Given the description of an element on the screen output the (x, y) to click on. 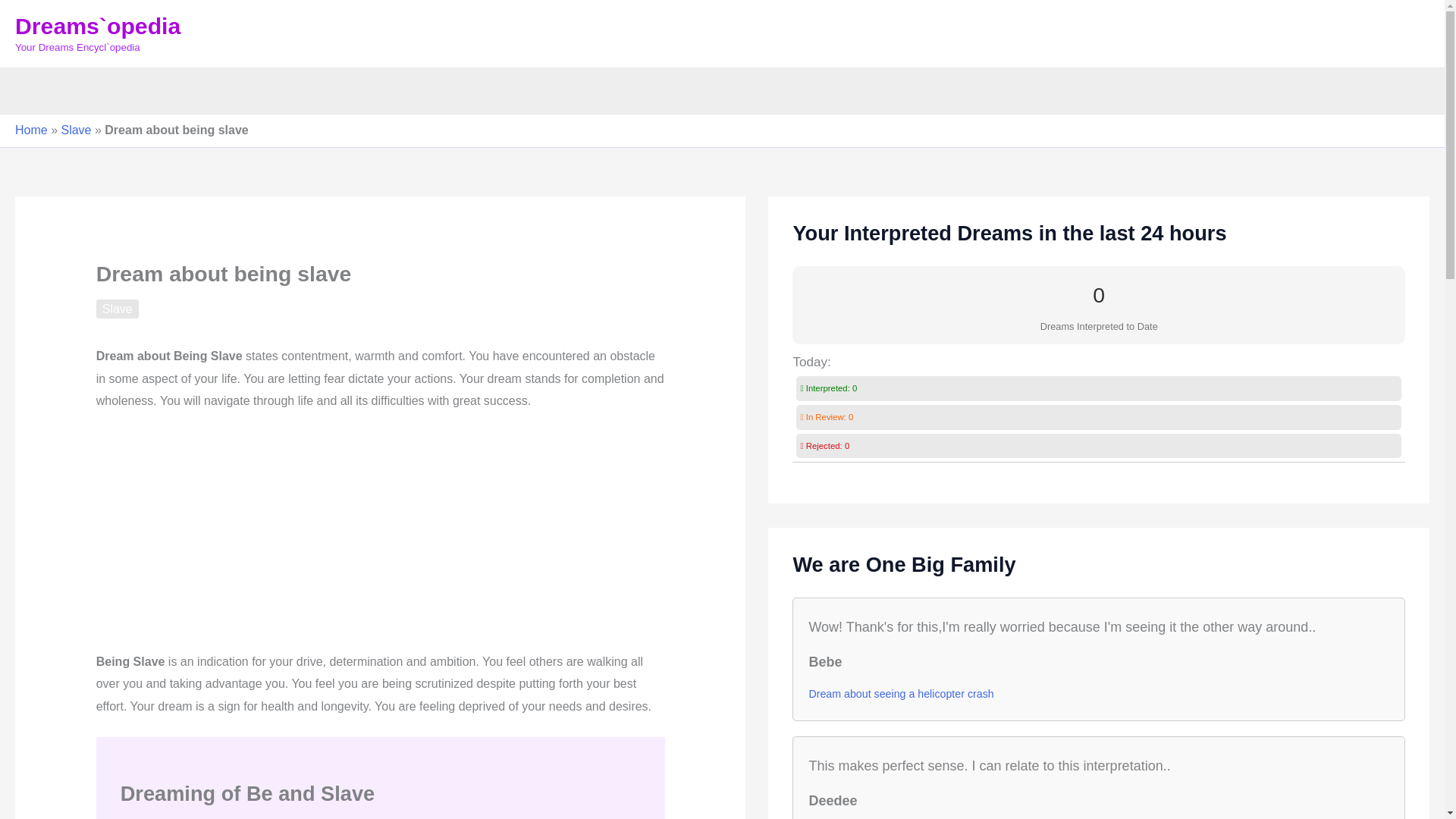
Dream about seeing a helicopter crash (900, 693)
Home (31, 129)
Slave (75, 129)
Slave (117, 308)
